Given the description of an element on the screen output the (x, y) to click on. 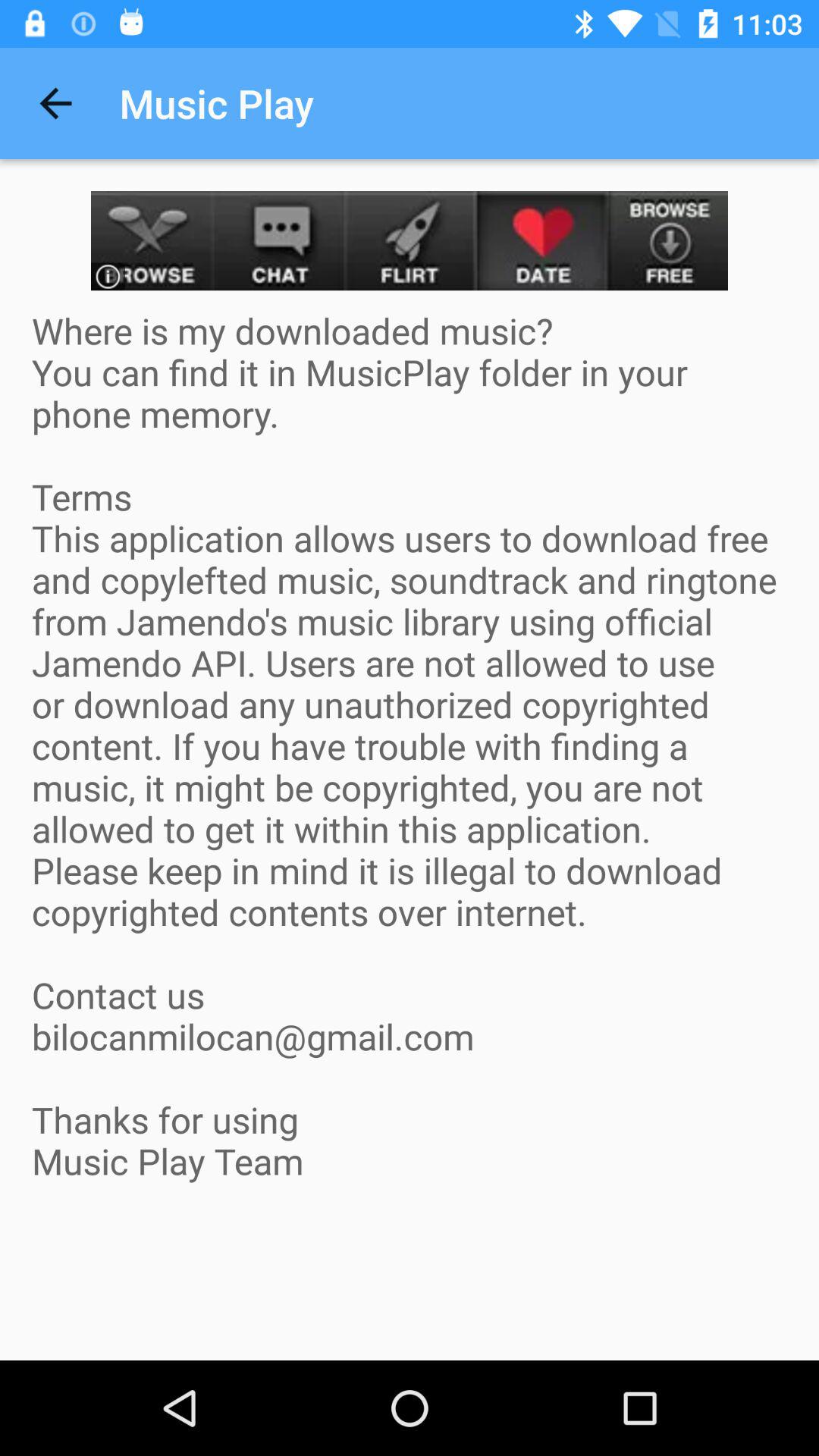
advertise banner (409, 240)
